Given the description of an element on the screen output the (x, y) to click on. 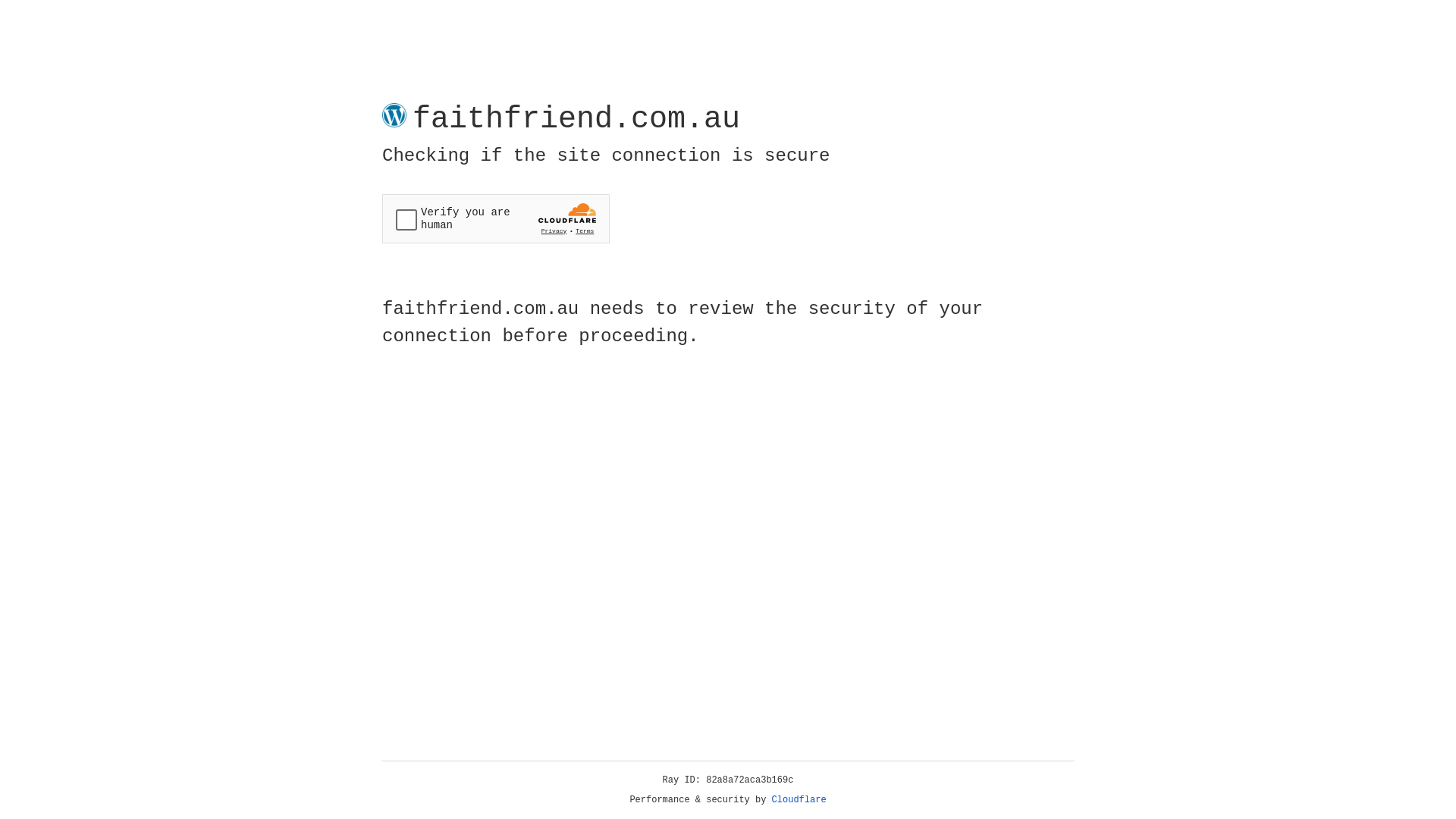
Widget containing a Cloudflare security challenge Element type: hover (495, 218)
Cloudflare Element type: text (798, 799)
